Given the description of an element on the screen output the (x, y) to click on. 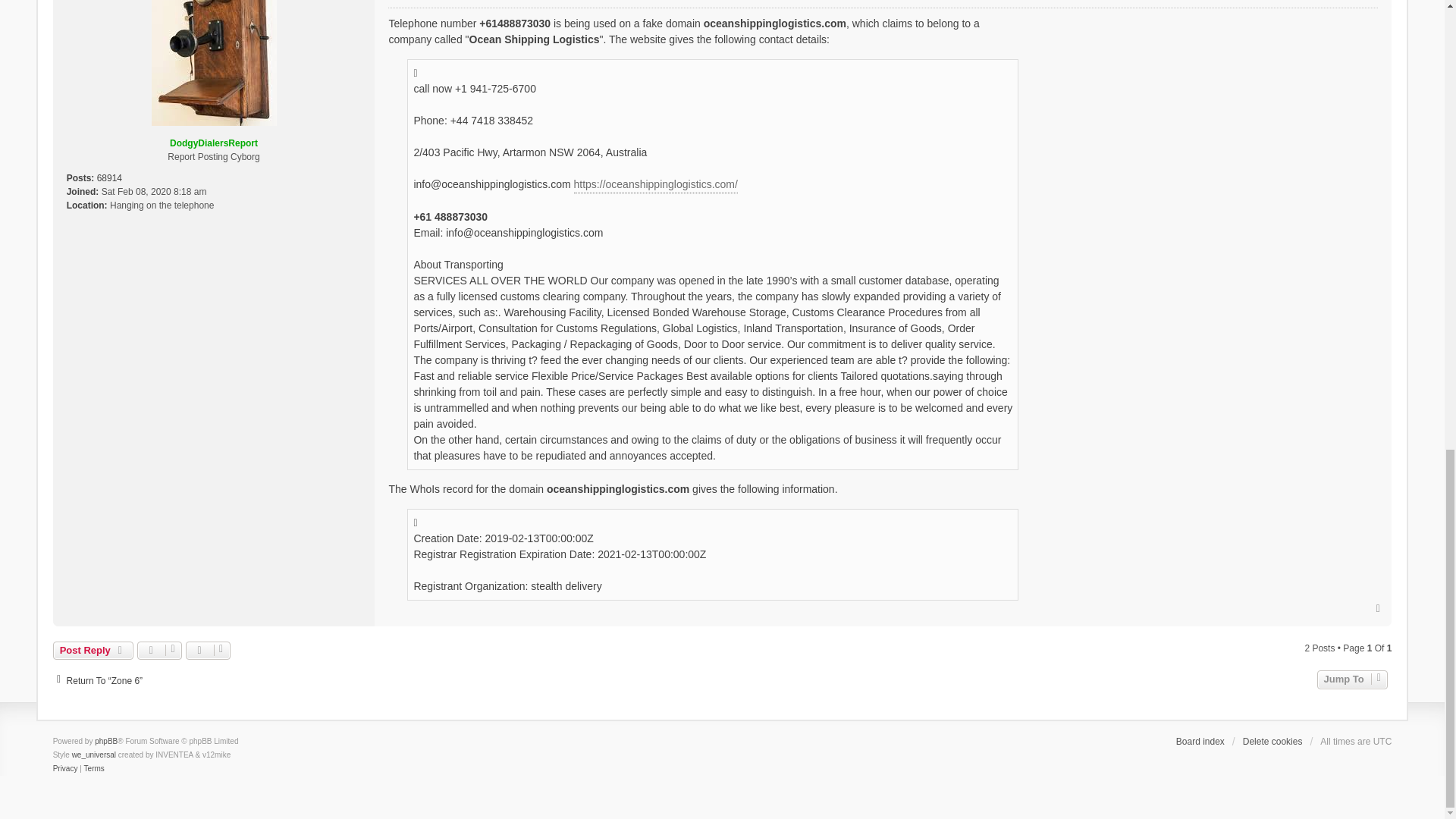
DodgyDialersReport (213, 143)
68914 (109, 178)
